Given the description of an element on the screen output the (x, y) to click on. 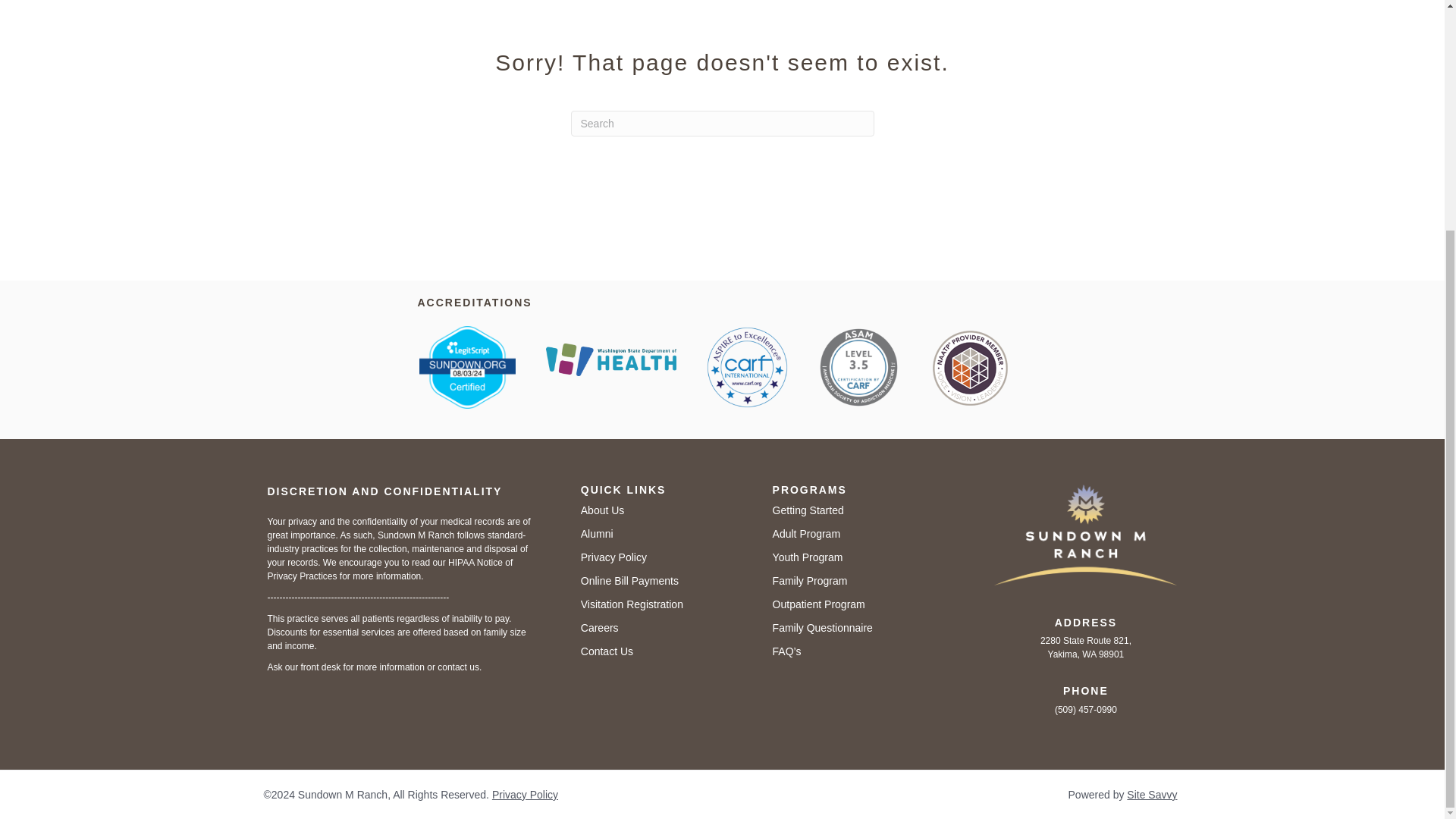
ASAM-certification-transparent (858, 366)
About Us (602, 510)
Alumni (596, 533)
Verify LegitScript Approval (467, 366)
CARF-accredited (746, 366)
Visitation Registration (631, 604)
Privacy Policy (613, 557)
Type and press Enter to search. (721, 123)
QUICK LINKS (623, 490)
Online Bill Payments (629, 580)
Privacy Practices (301, 575)
